Given the description of an element on the screen output the (x, y) to click on. 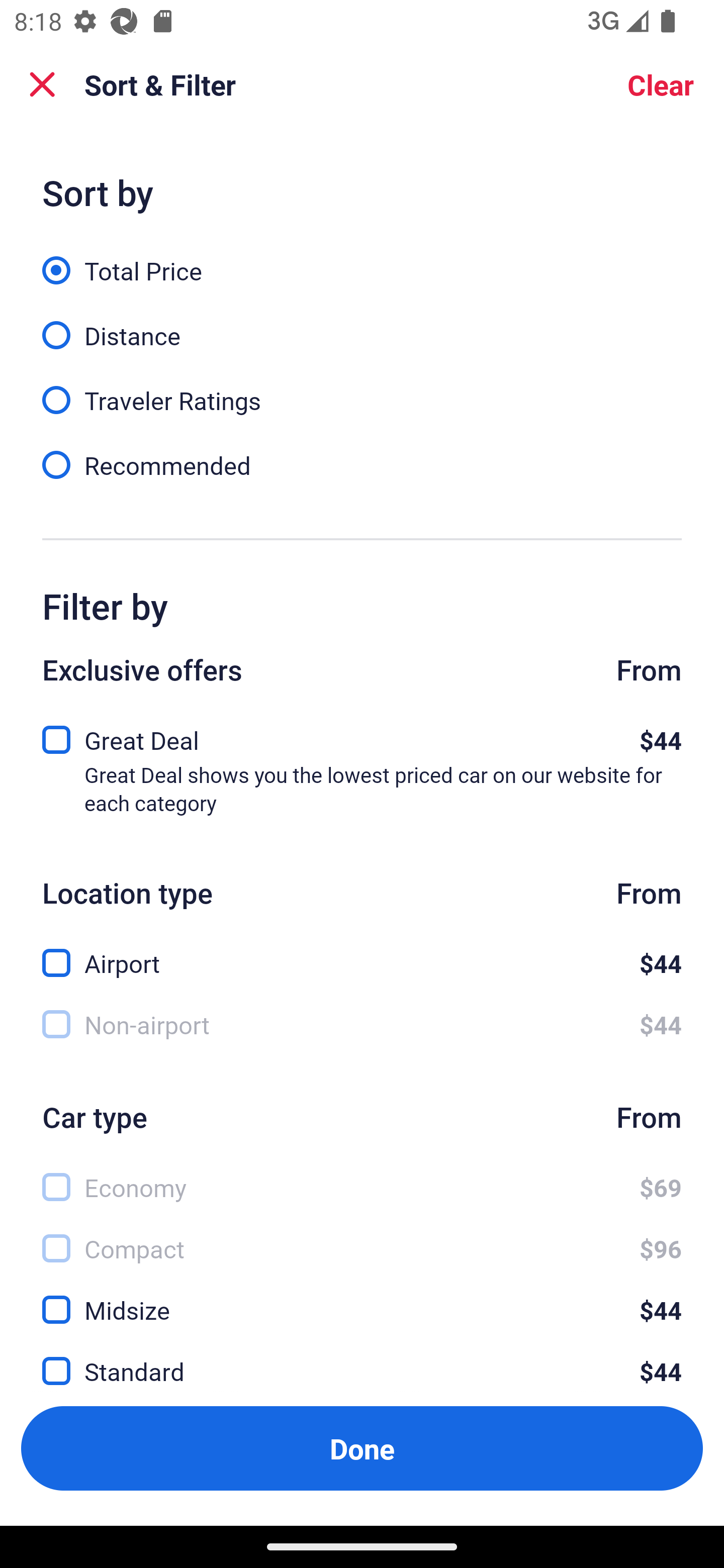
Close Sort and Filter (42, 84)
Clear (660, 84)
Distance (361, 324)
Traveler Ratings (361, 389)
Recommended (361, 463)
Airport, $44 Airport $44 (361, 952)
Non-airport, $44 Non-airport $44 (361, 1024)
Economy, $69 Economy $69 (361, 1175)
Compact, $96 Compact $96 (361, 1237)
Midsize, $44 Midsize $44 (361, 1298)
Standard, $44 Standard $44 (361, 1359)
Apply and close Sort and Filter Done (361, 1448)
